Given the description of an element on the screen output the (x, y) to click on. 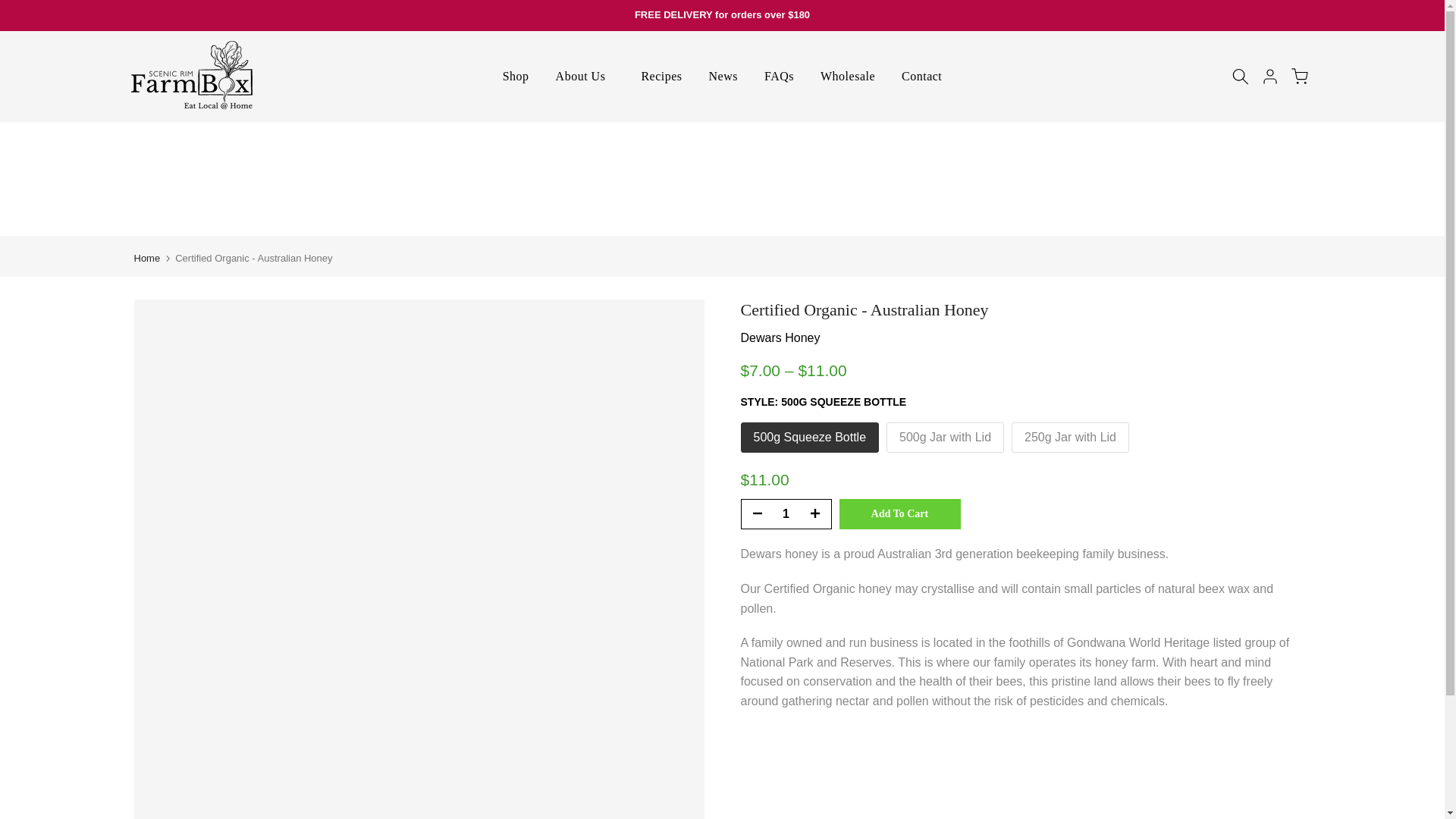
Home (146, 257)
Recipes (661, 76)
News (723, 76)
Shop (515, 76)
Dewars Honey (779, 337)
FAQs (778, 76)
Add To Cart (898, 513)
Skip to content (10, 7)
Contact (921, 76)
Wholesale (848, 76)
About Us (584, 76)
1 (786, 513)
